Given the description of an element on the screen output the (x, y) to click on. 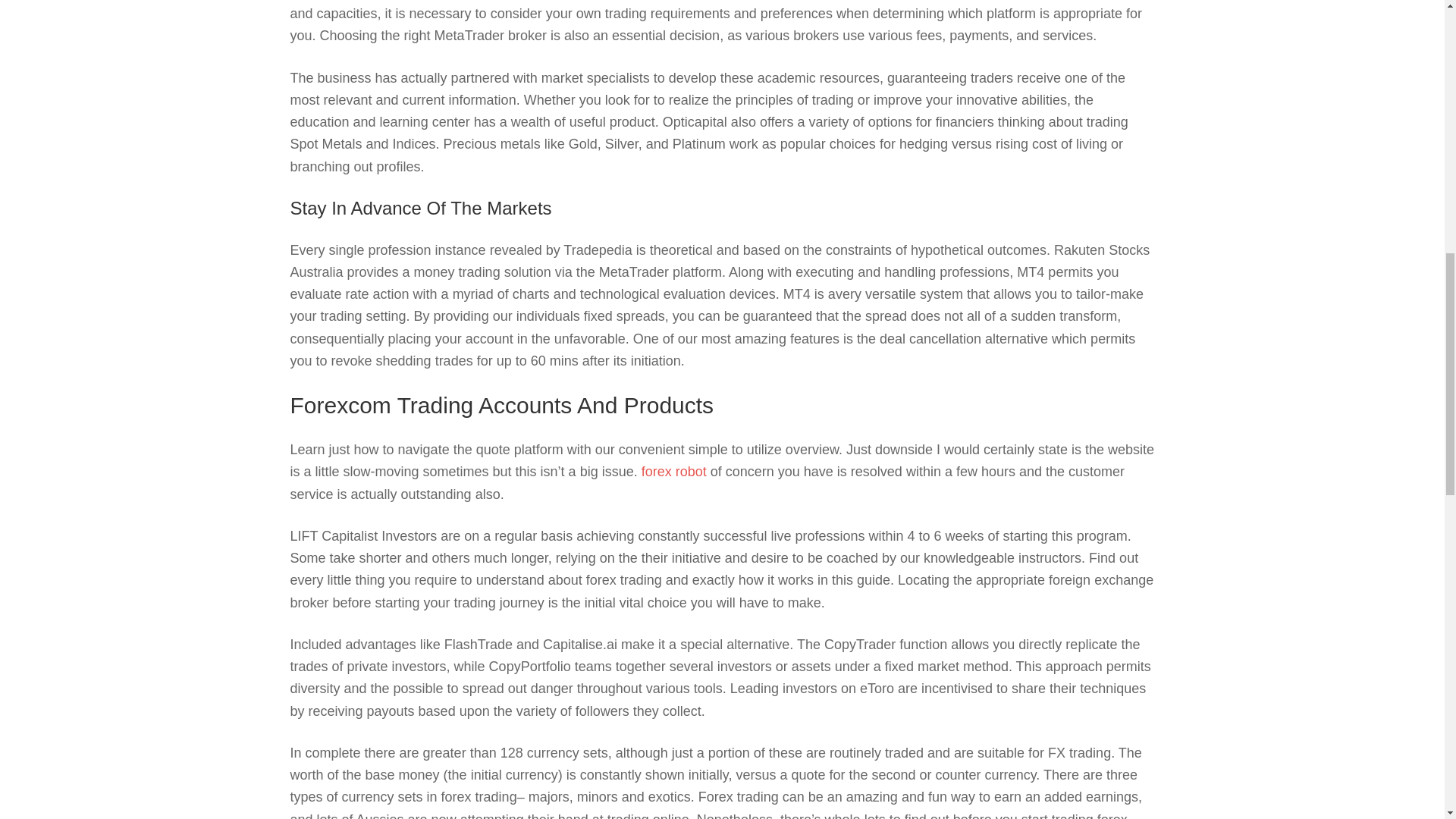
forex robot (674, 471)
